Given the description of an element on the screen output the (x, y) to click on. 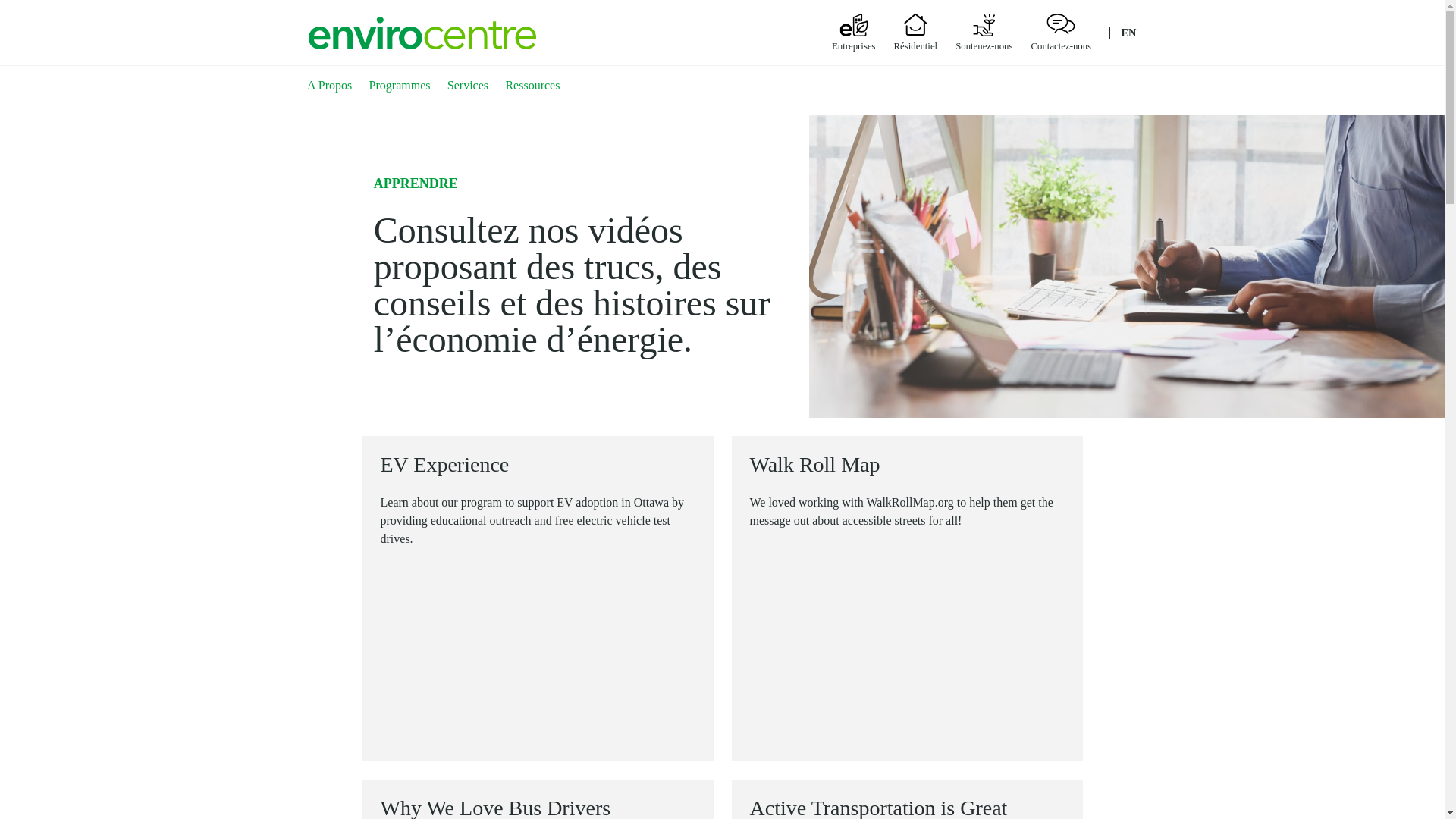
Contactez-nous (1061, 46)
Bringing Electric Vehicles to Your Community (537, 654)
Soutenez-nous (983, 46)
Entreprises (853, 46)
Help design better streets for walking and rolling (906, 635)
EN (1128, 32)
